Given the description of an element on the screen output the (x, y) to click on. 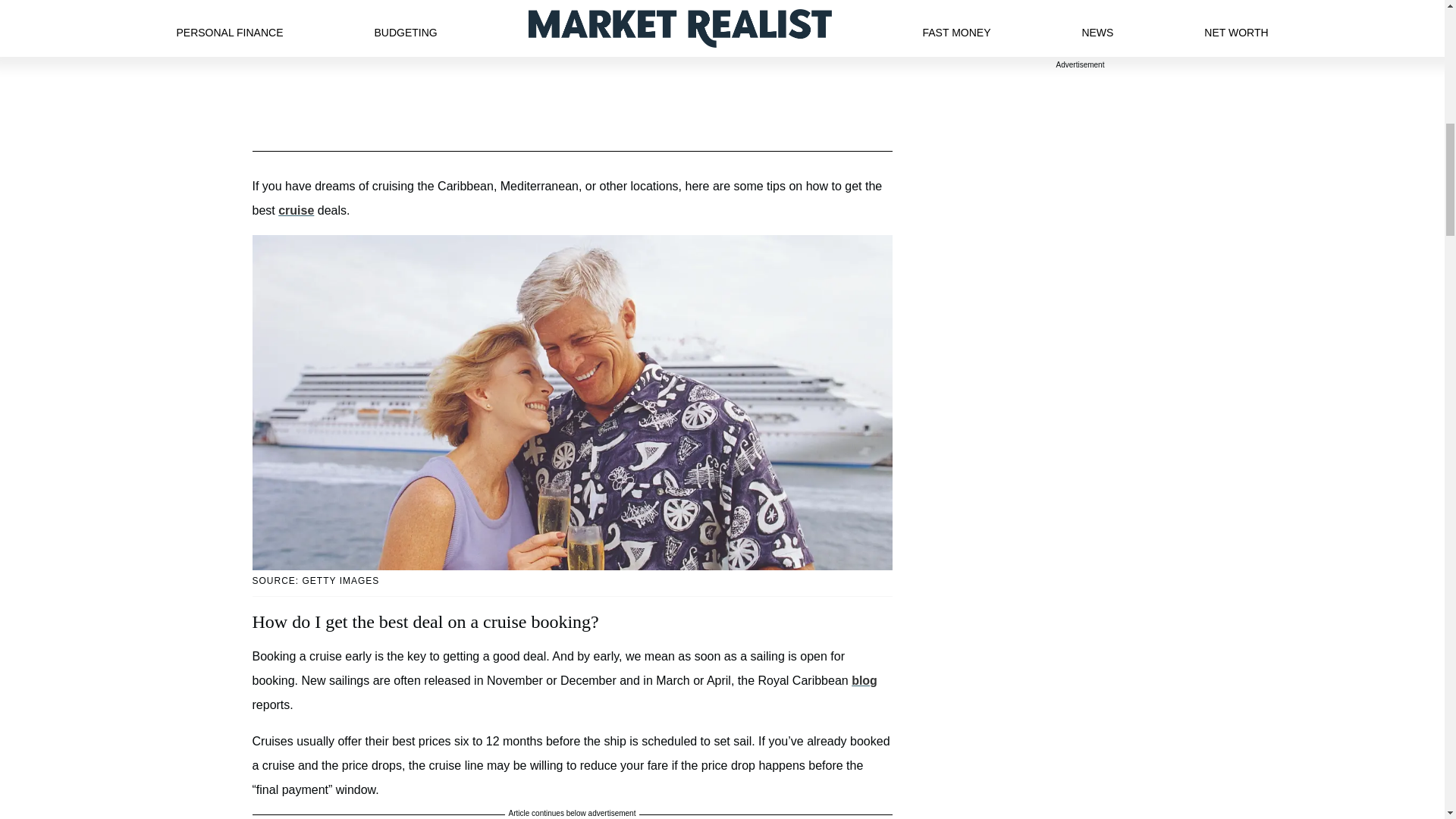
blog (864, 680)
cruise (296, 210)
